Given the description of an element on the screen output the (x, y) to click on. 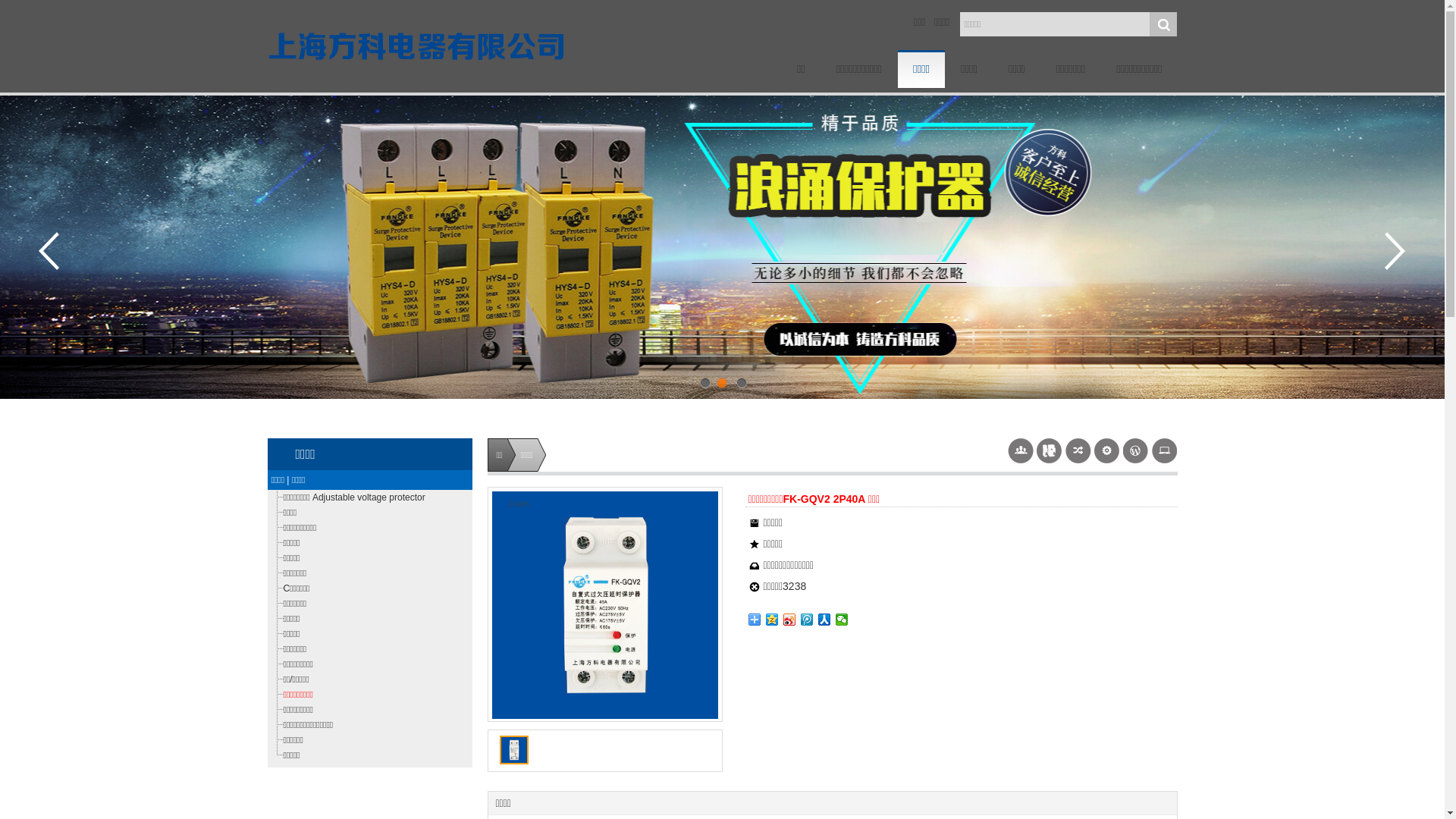
Zoom Element type: text (604, 604)
TOLERANCE Element type: hover (437, 46)
2 Element type: text (722, 383)
3 Element type: text (740, 383)
1 Element type: text (704, 383)
